Given the description of an element on the screen output the (x, y) to click on. 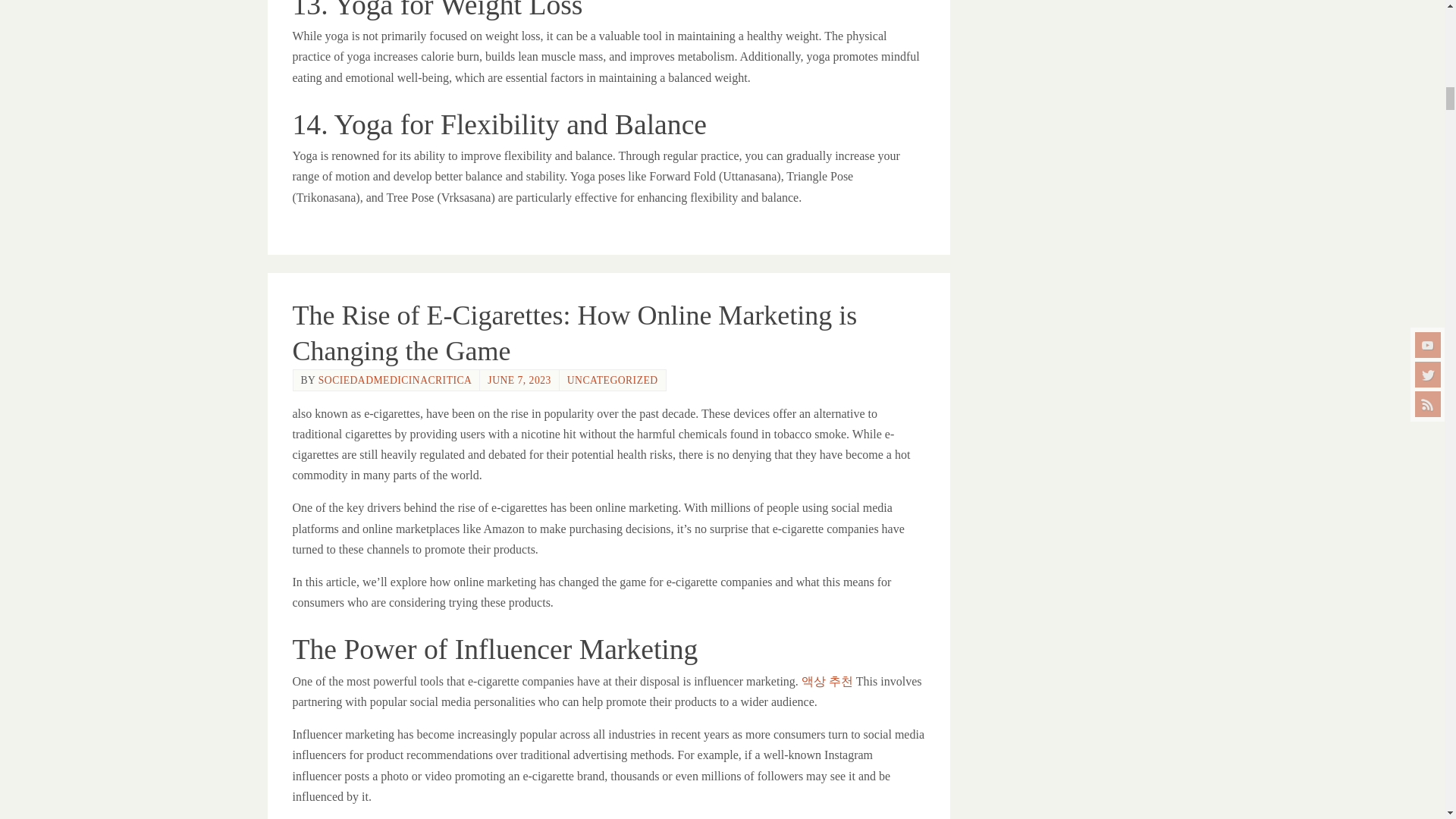
JUNE 7, 2023 (518, 379)
UNCATEGORIZED (612, 379)
SOCIEDADMEDICINACRITICA (394, 379)
View all posts by sociedadmedicinacritica (394, 379)
